Given the description of an element on the screen output the (x, y) to click on. 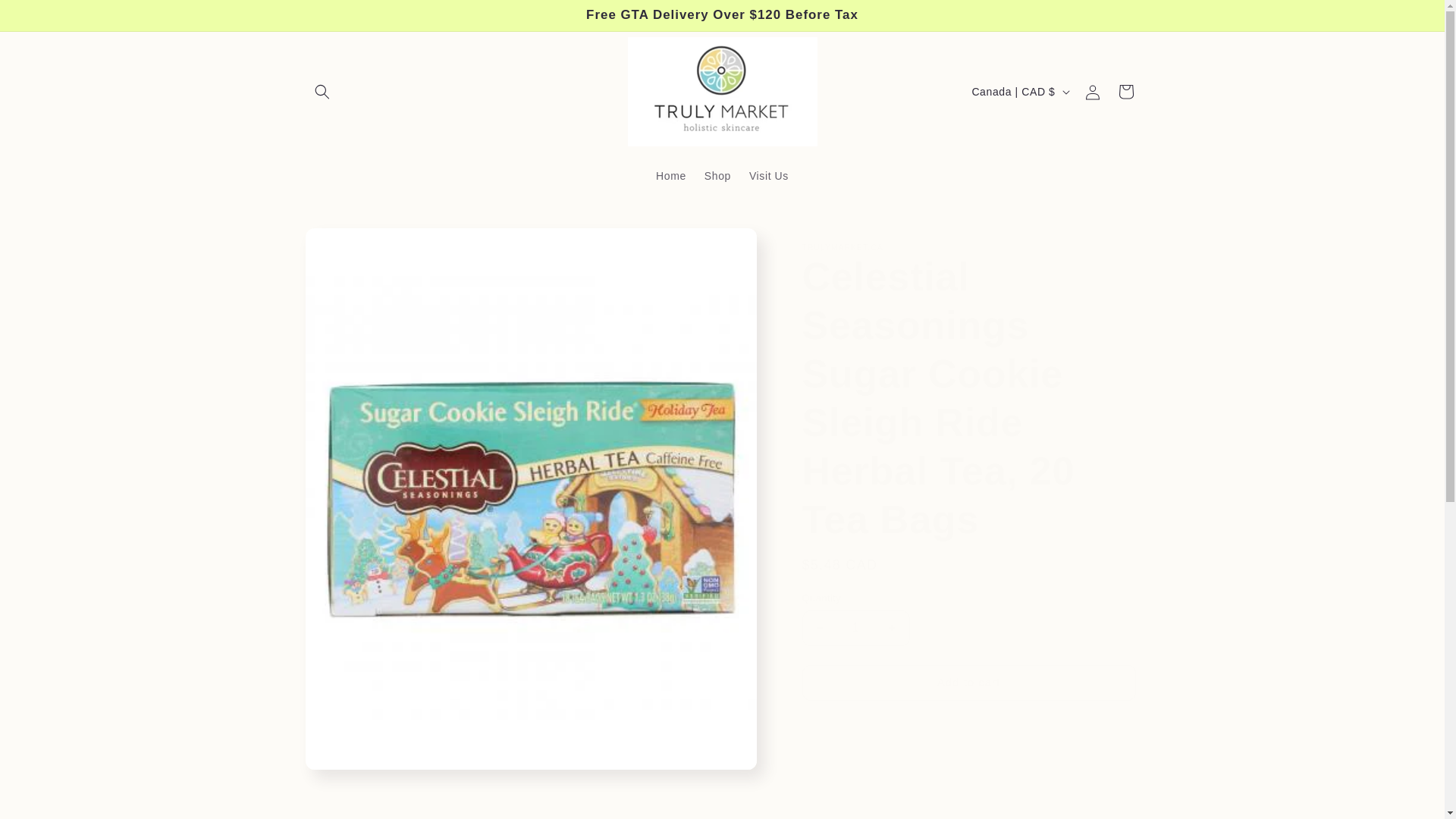
1 (856, 628)
Log in (1091, 91)
Visit Us (768, 175)
Shop (717, 175)
Skip to product information (350, 244)
Add to cart (968, 683)
Skip to content (45, 17)
Cart (1124, 91)
Home (670, 175)
